Given the description of an element on the screen output the (x, y) to click on. 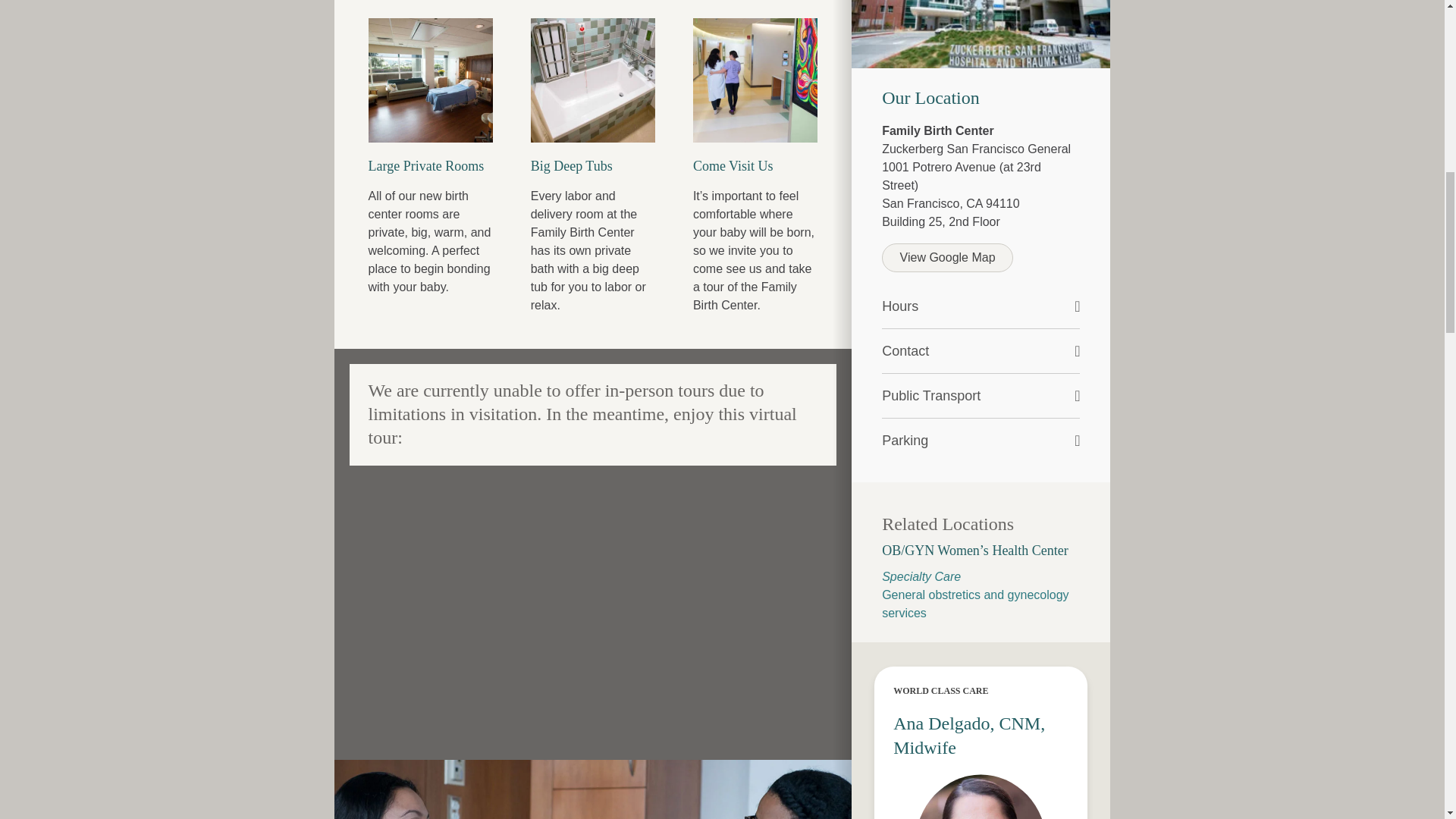
ZSFG Birth Center Tour (591, 602)
delgado-1x1 (980, 792)
